Given the description of an element on the screen output the (x, y) to click on. 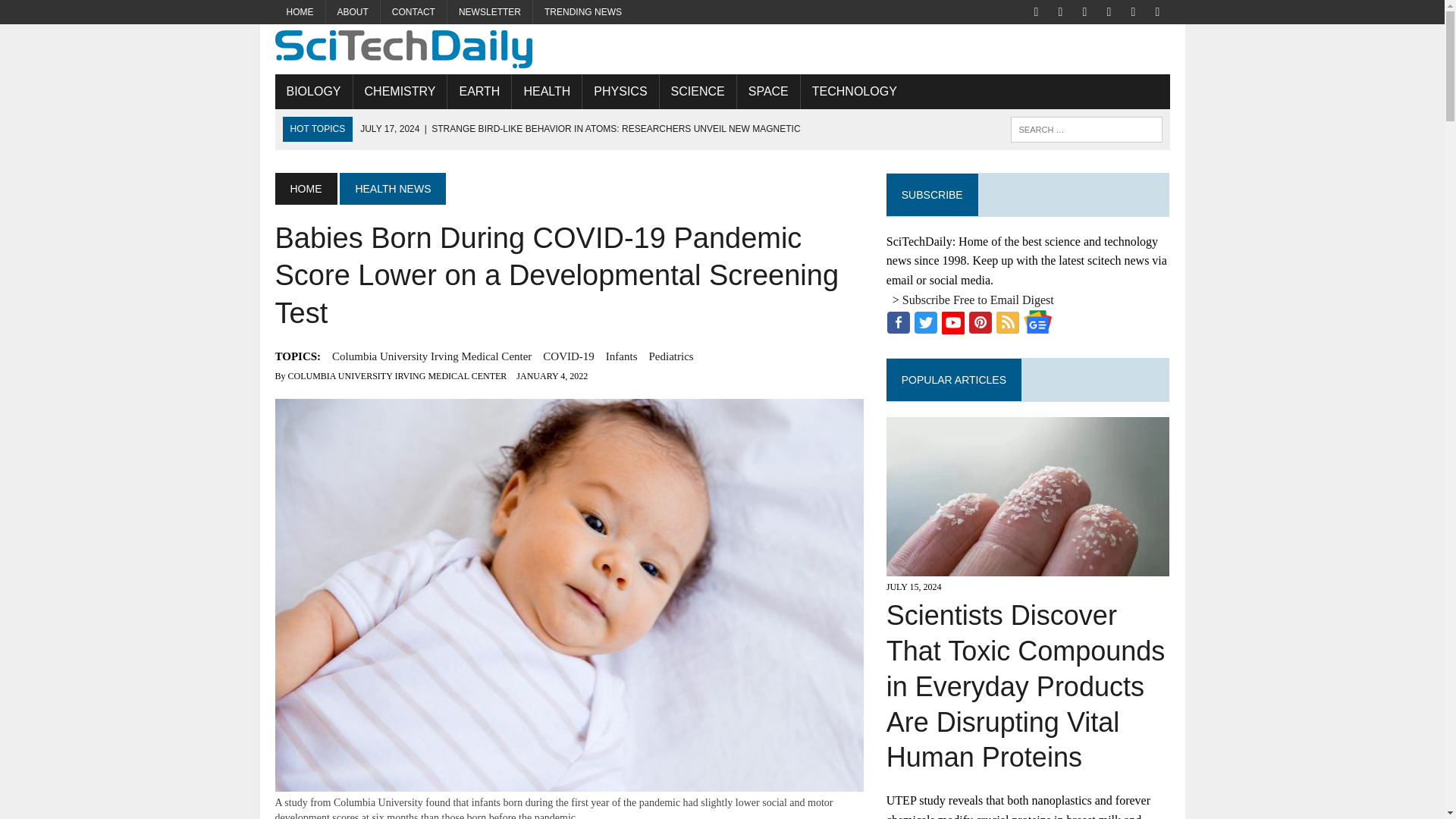
CHEMISTRY (399, 91)
HEALTH (546, 91)
SCIENCE (697, 91)
Contact SciTechDaily.com (413, 12)
SciTechDaily Newsletter (489, 12)
ABOUT (353, 12)
CONTACT (413, 12)
HOME (305, 188)
Infants (621, 356)
Search (75, 14)
NEWSLETTER (489, 12)
EARTH (478, 91)
Columbia University Irving Medical Center (431, 356)
SciTechDaily (722, 48)
